Given the description of an element on the screen output the (x, y) to click on. 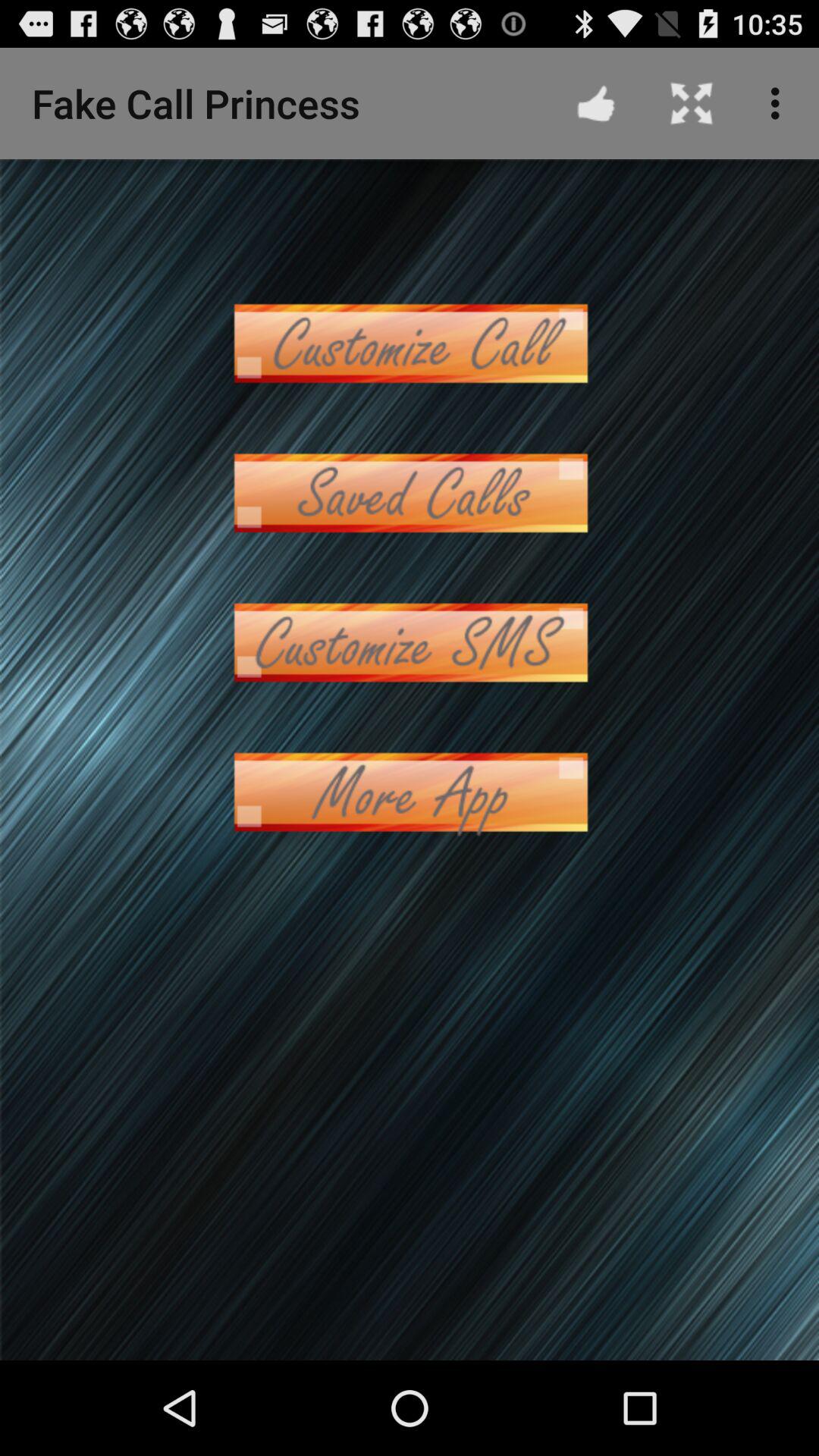
go to sms patturn (409, 642)
